Given the description of an element on the screen output the (x, y) to click on. 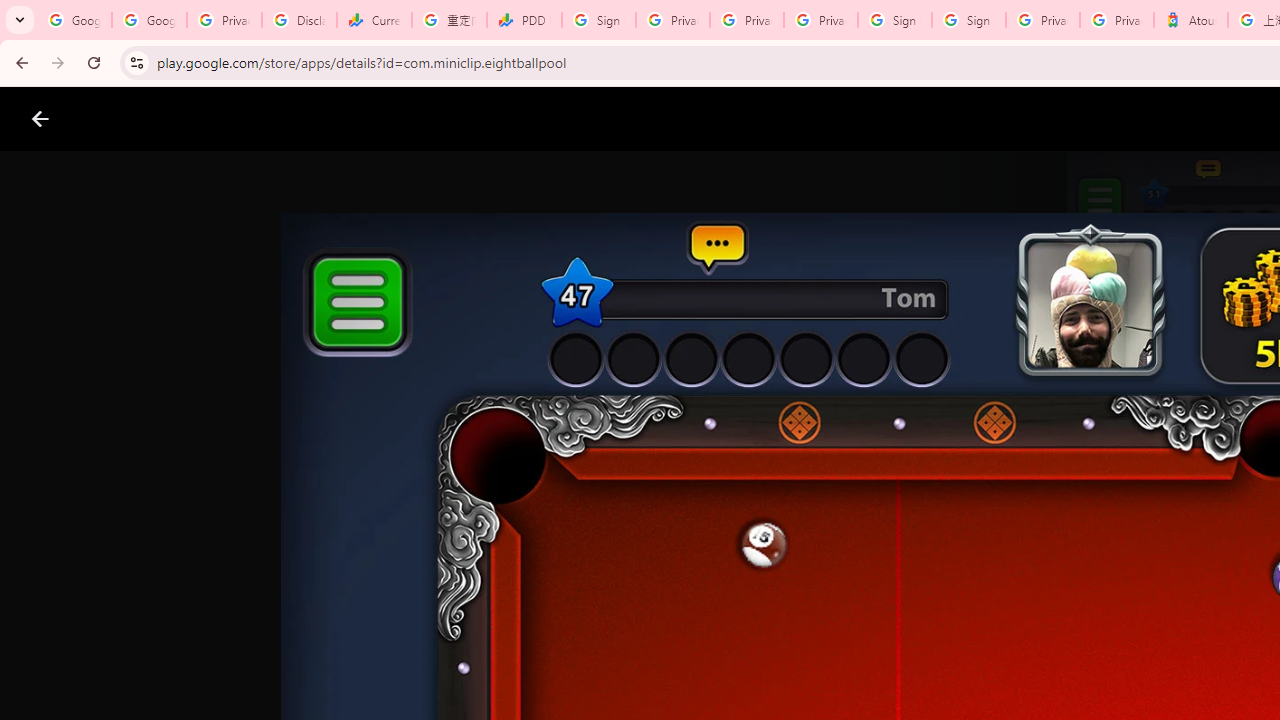
Miniclip.com (680, 586)
Sign in - Google Accounts (894, 20)
Content rating (973, 656)
Kids (385, 119)
Google Workspace Admin Community (74, 20)
Apps (321, 119)
Privacy Checkup (820, 20)
Google Play logo (111, 119)
